Given the description of an element on the screen output the (x, y) to click on. 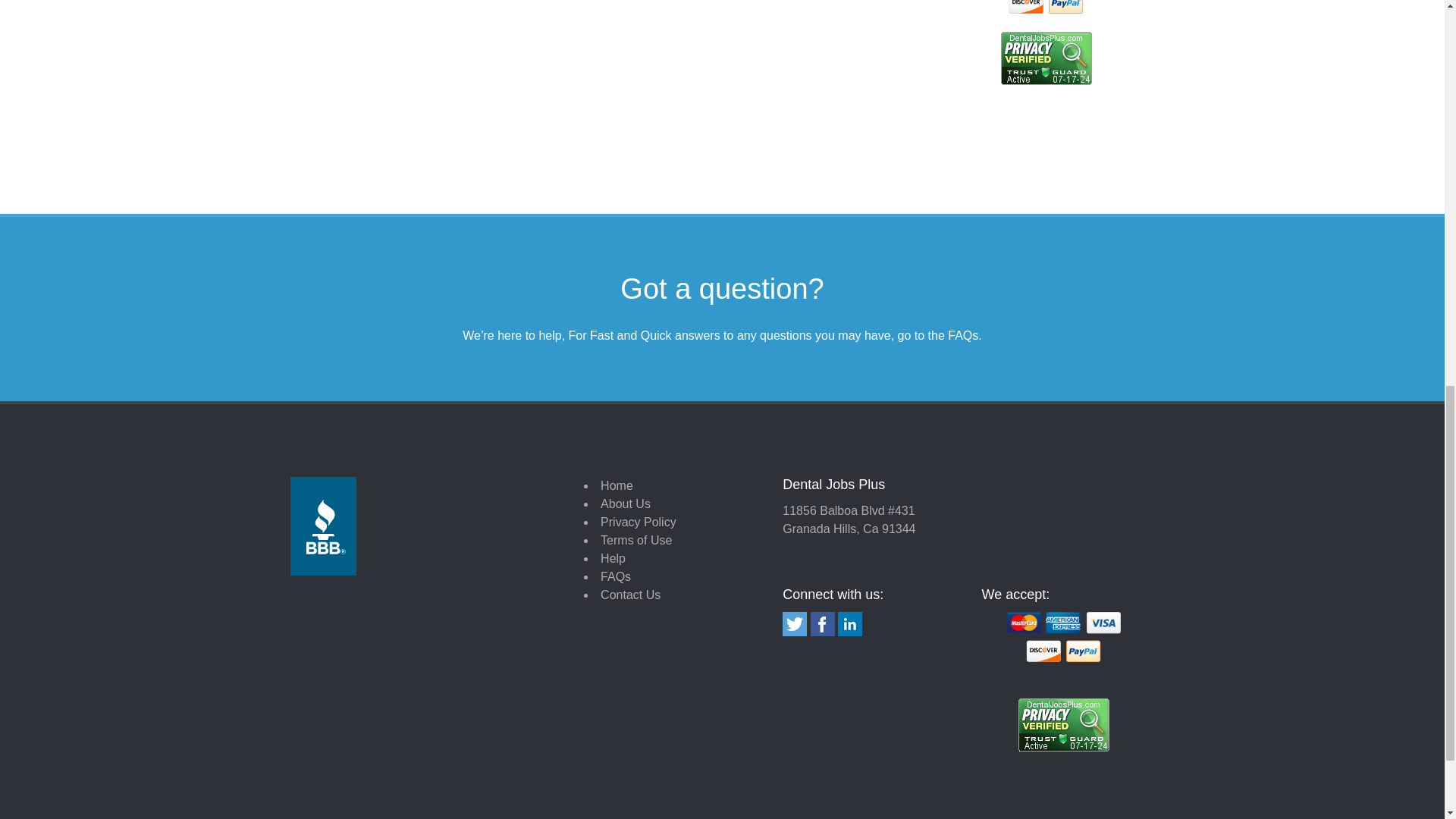
Home (616, 485)
FAQs (962, 335)
FAQs (614, 576)
About Us (624, 503)
Terms of Use (635, 540)
Contact Us (630, 594)
Privacy Policy (638, 521)
Help (612, 558)
